Given the description of an element on the screen output the (x, y) to click on. 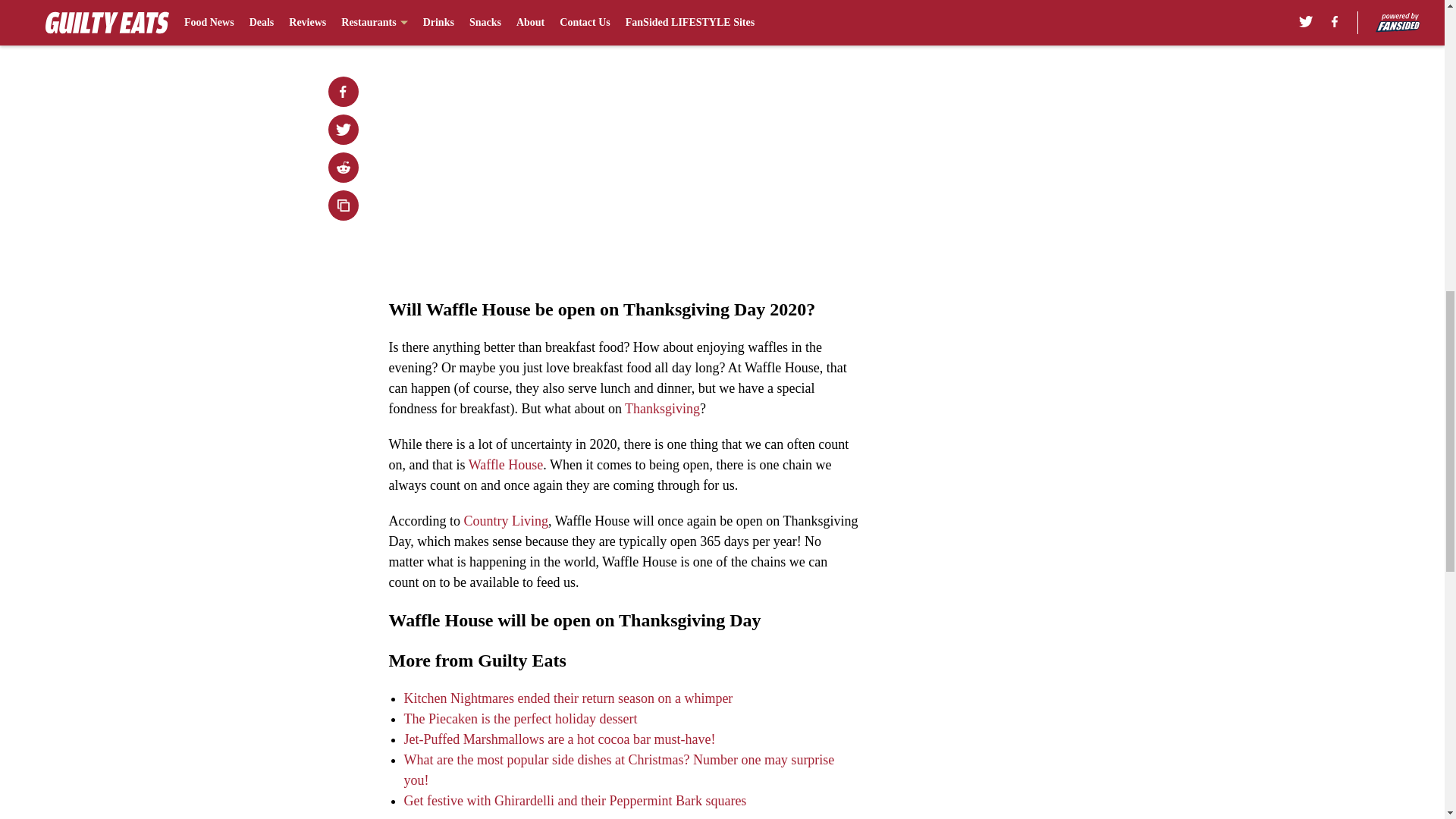
Waffle House (505, 464)
Jet-Puffed Marshmallows are a hot cocoa bar must-have! (558, 739)
Thanksgiving (662, 408)
The Piecaken is the perfect holiday dessert (520, 718)
Country Living (505, 520)
Kitchen Nightmares ended their return season on a whimper (567, 698)
